Given the description of an element on the screen output the (x, y) to click on. 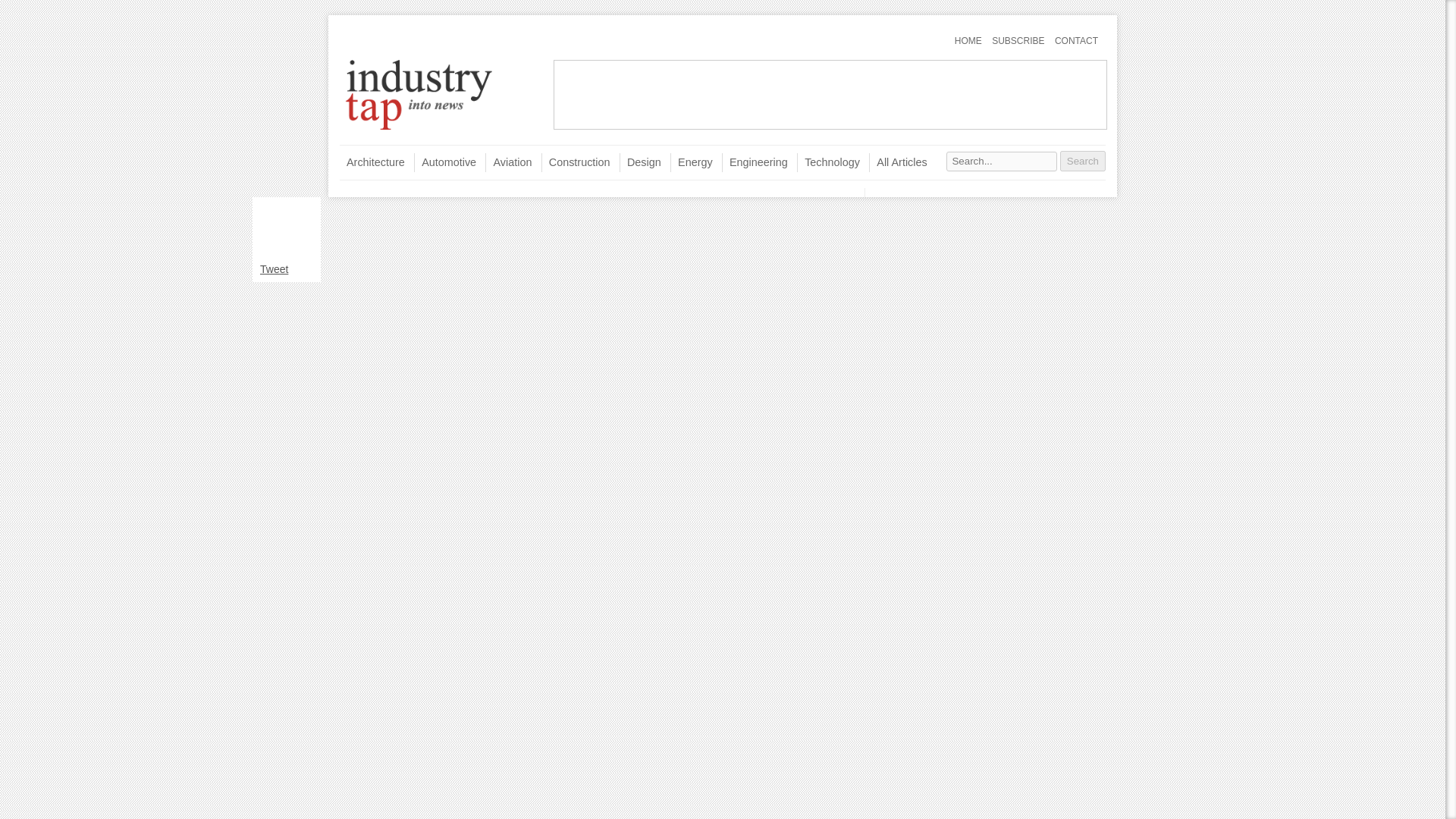
HOME (968, 41)
Industry Tap (419, 130)
Technology (828, 162)
Aviation (507, 162)
Automotive (444, 162)
Skip to content (368, 149)
Skip to content (368, 149)
CONTACT (1075, 41)
Search (1082, 160)
Skip to content (368, 34)
